Given the description of an element on the screen output the (x, y) to click on. 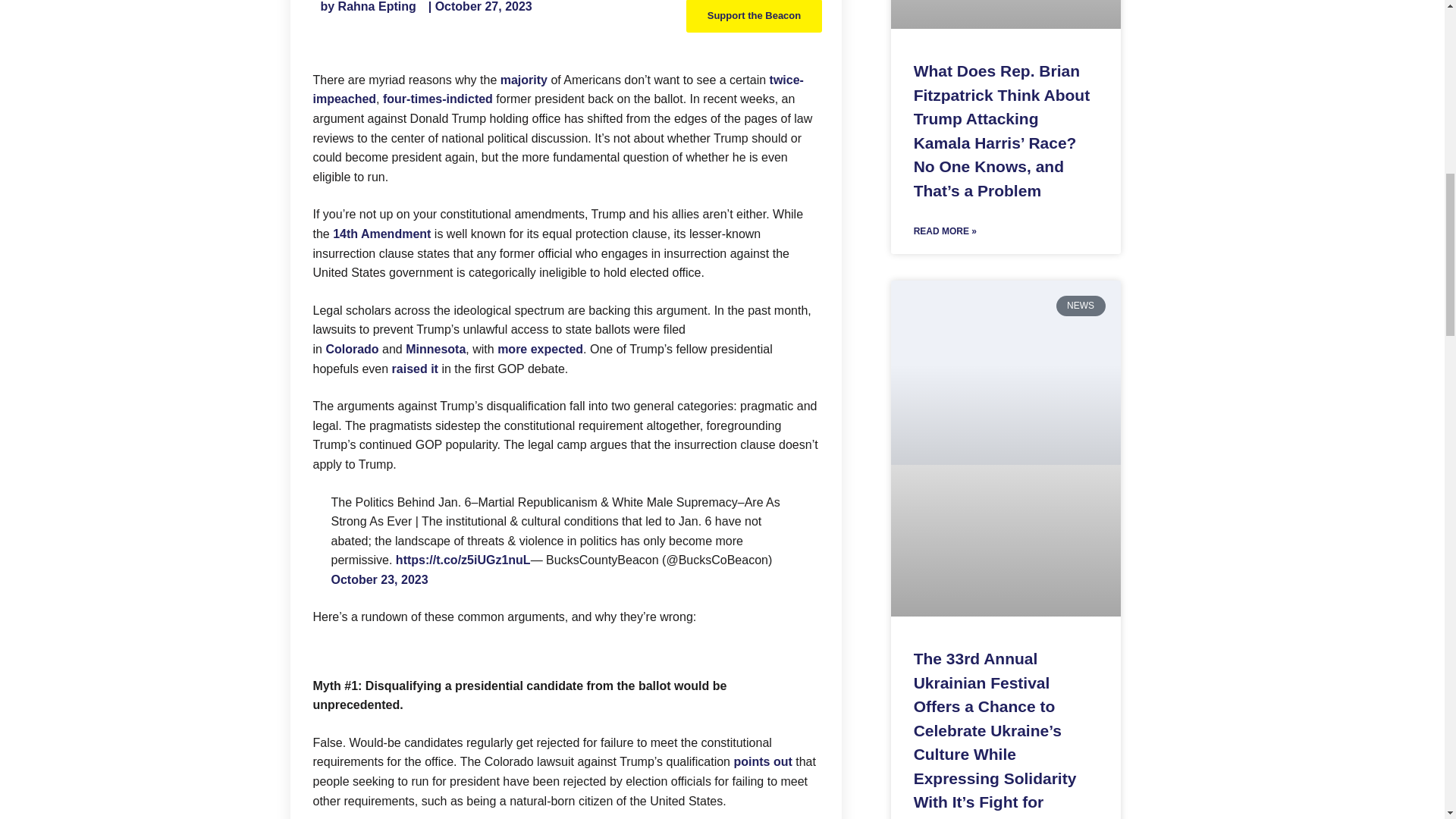
majority (523, 79)
more expected (540, 349)
twice- impeached (558, 89)
14th Amendment (381, 233)
Minnesota (435, 349)
raised it (414, 368)
by Rahna Epting (367, 7)
Support the Beacon (753, 16)
four-times-indicted (437, 98)
Colorado (351, 349)
